Given the description of an element on the screen output the (x, y) to click on. 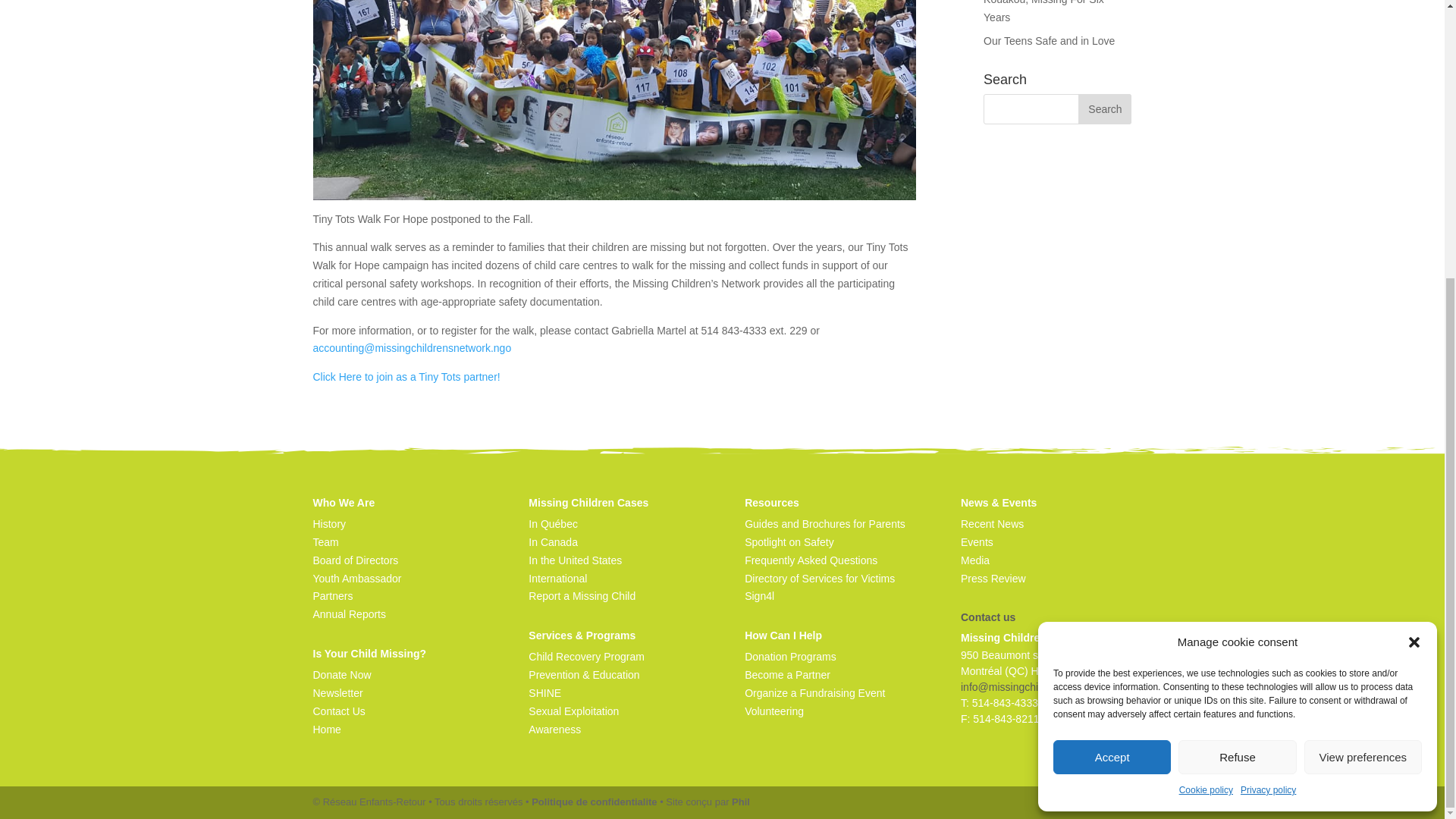
Accept (1111, 343)
Refuse (1236, 343)
Search (1104, 109)
View preferences (1363, 343)
Cookie policy (1206, 377)
Privacy policy (1267, 377)
